Given the description of an element on the screen output the (x, y) to click on. 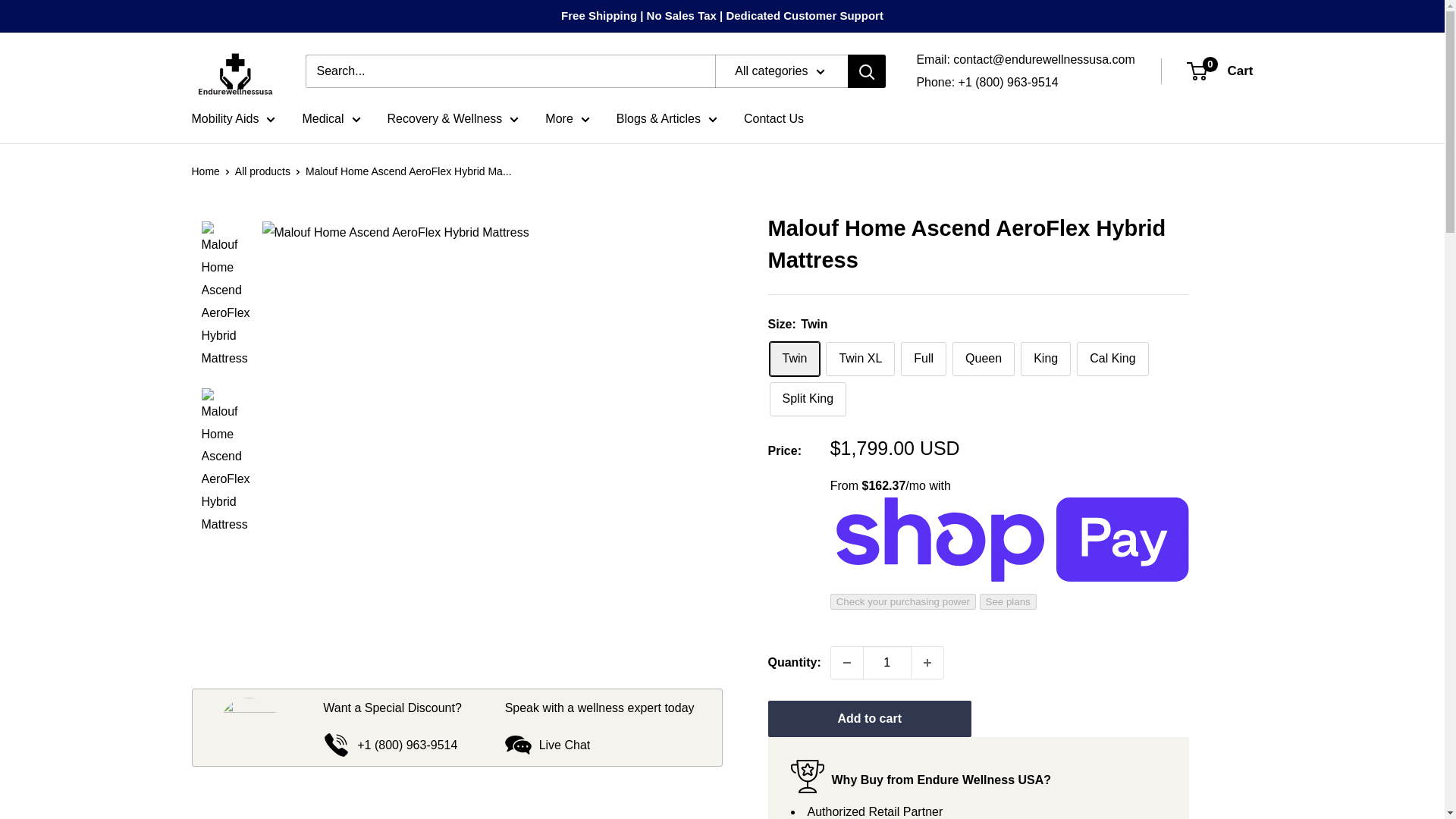
Twin (793, 358)
Split King (806, 399)
1 (887, 662)
Queen (983, 358)
Increase quantity by 1 (927, 662)
Decrease quantity by 1 (847, 662)
King (1045, 358)
Twin XL (860, 358)
Cal King (1112, 358)
Full (923, 358)
